Given the description of an element on the screen output the (x, y) to click on. 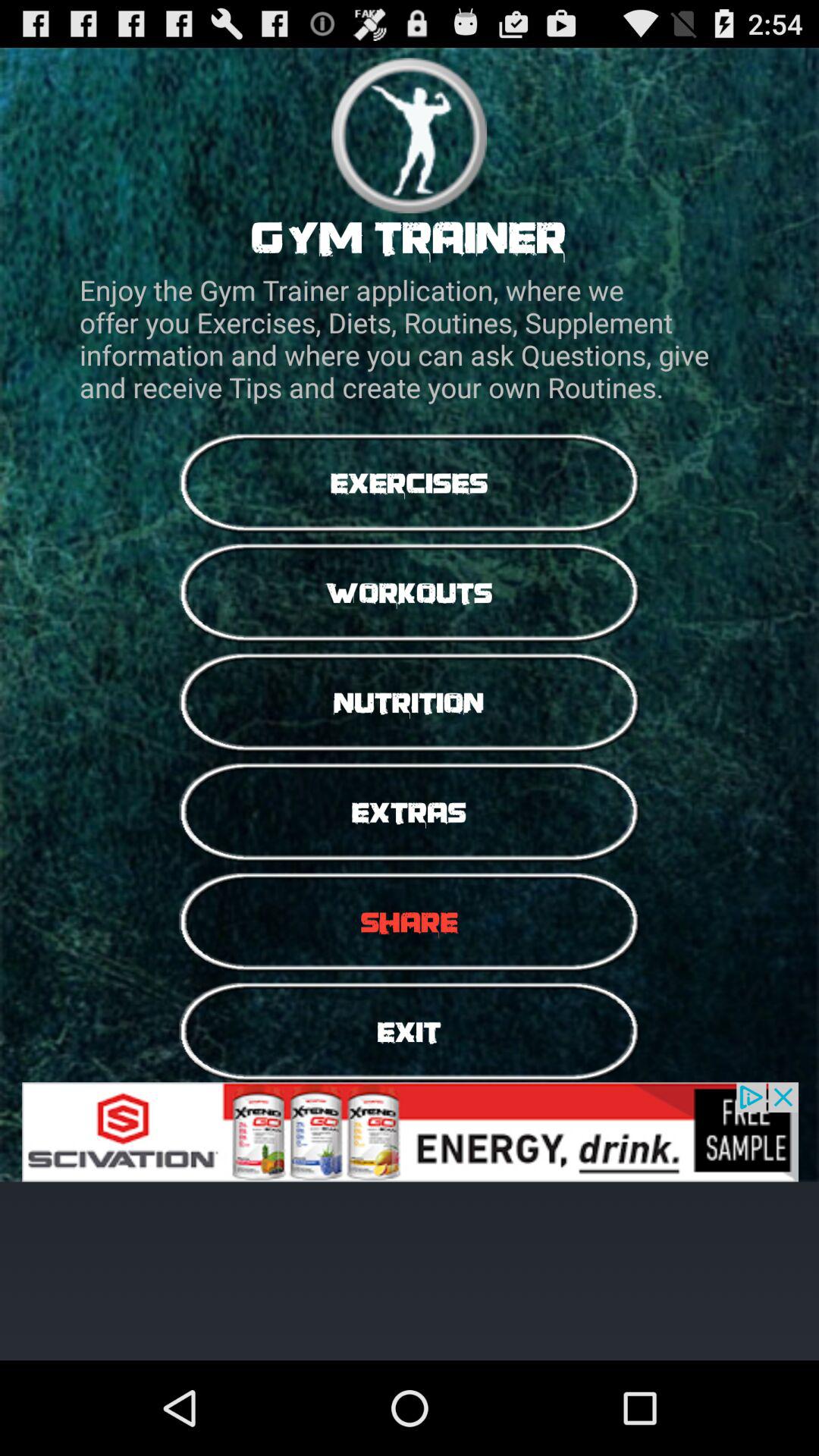
view advertisement (409, 1131)
